Given the description of an element on the screen output the (x, y) to click on. 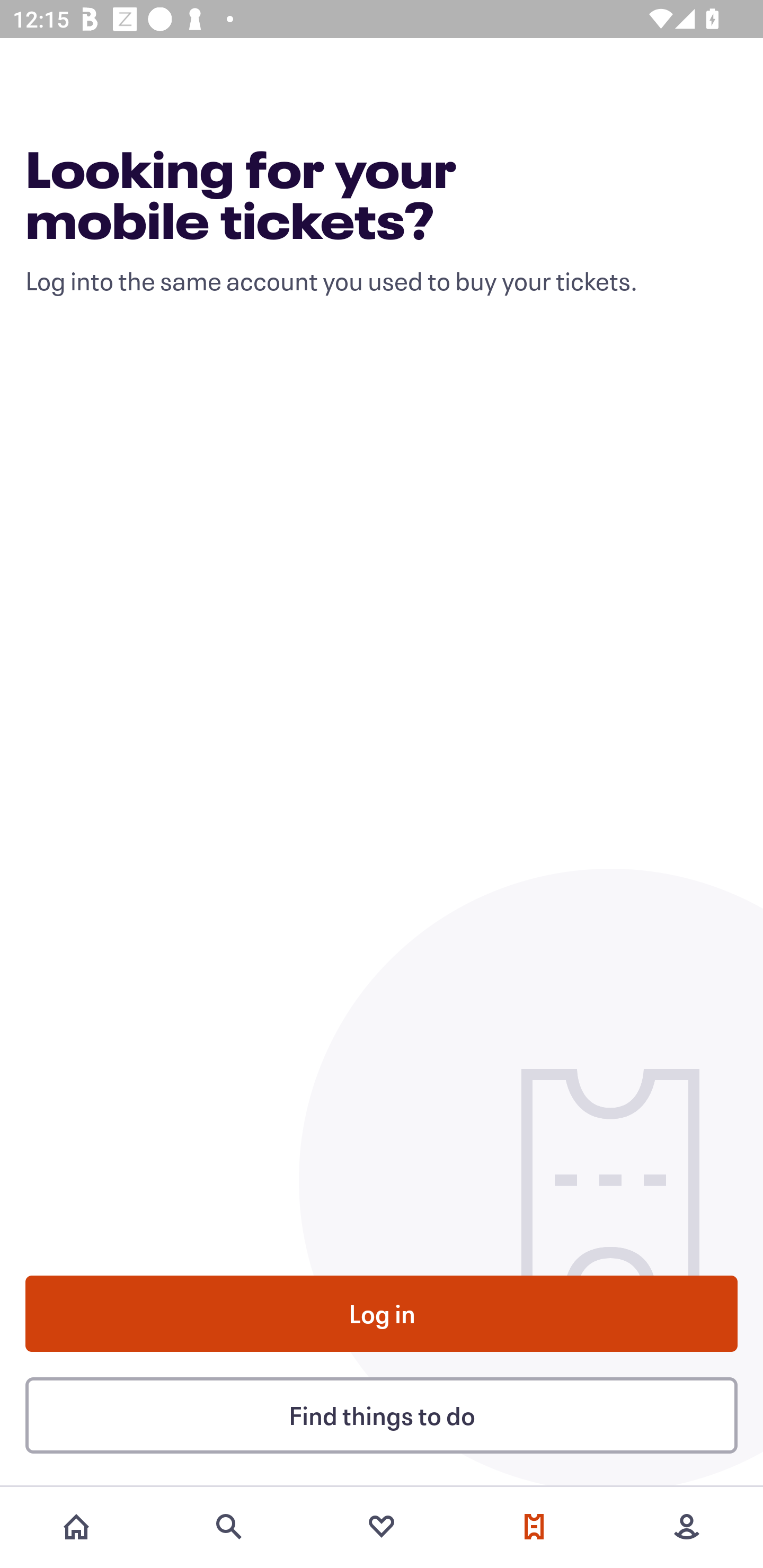
Log in (381, 1313)
Find things to do (381, 1414)
Home (76, 1526)
Search events (228, 1526)
Favorites (381, 1526)
Tickets (533, 1526)
More (686, 1526)
